Given the description of an element on the screen output the (x, y) to click on. 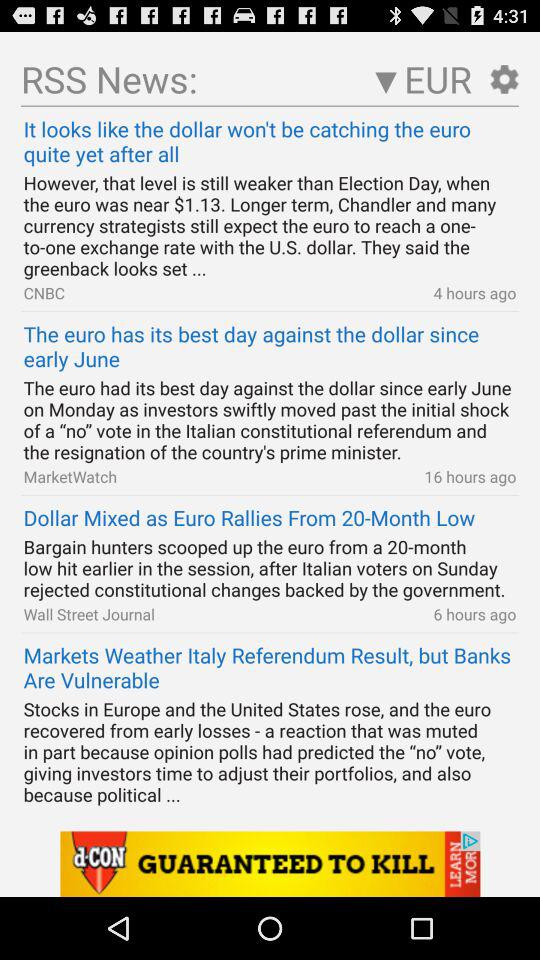
advertisement link banner (270, 864)
